Given the description of an element on the screen output the (x, y) to click on. 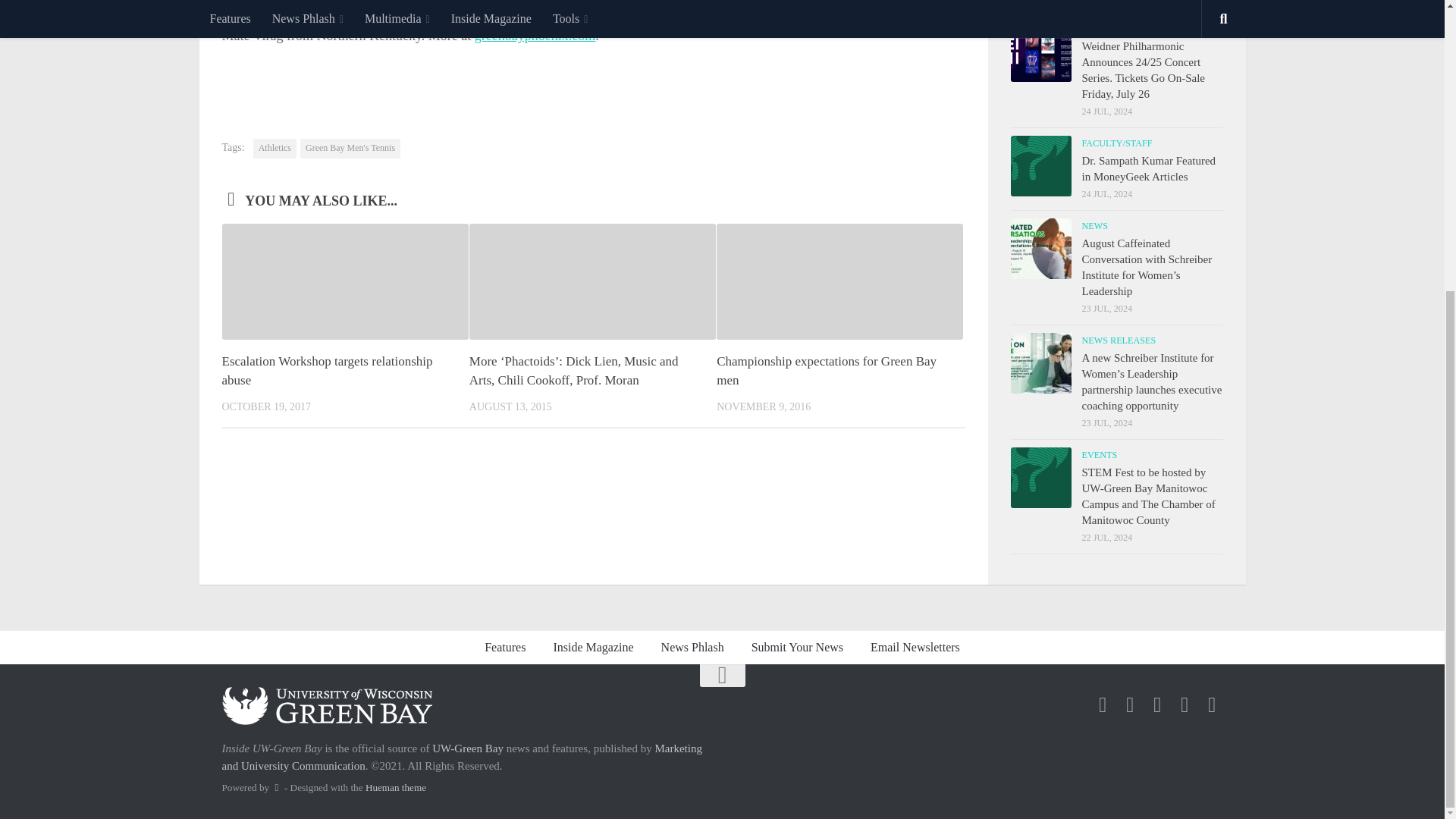
greenbayphoenix.com (534, 35)
Championship expectations for Green Bay men (826, 370)
Tags (1169, 2)
Green Bay Men's Tennis (349, 148)
Athletics (275, 148)
Recent Posts (1063, 2)
Escalation Workshop targets relationship abuse (326, 370)
